Given the description of an element on the screen output the (x, y) to click on. 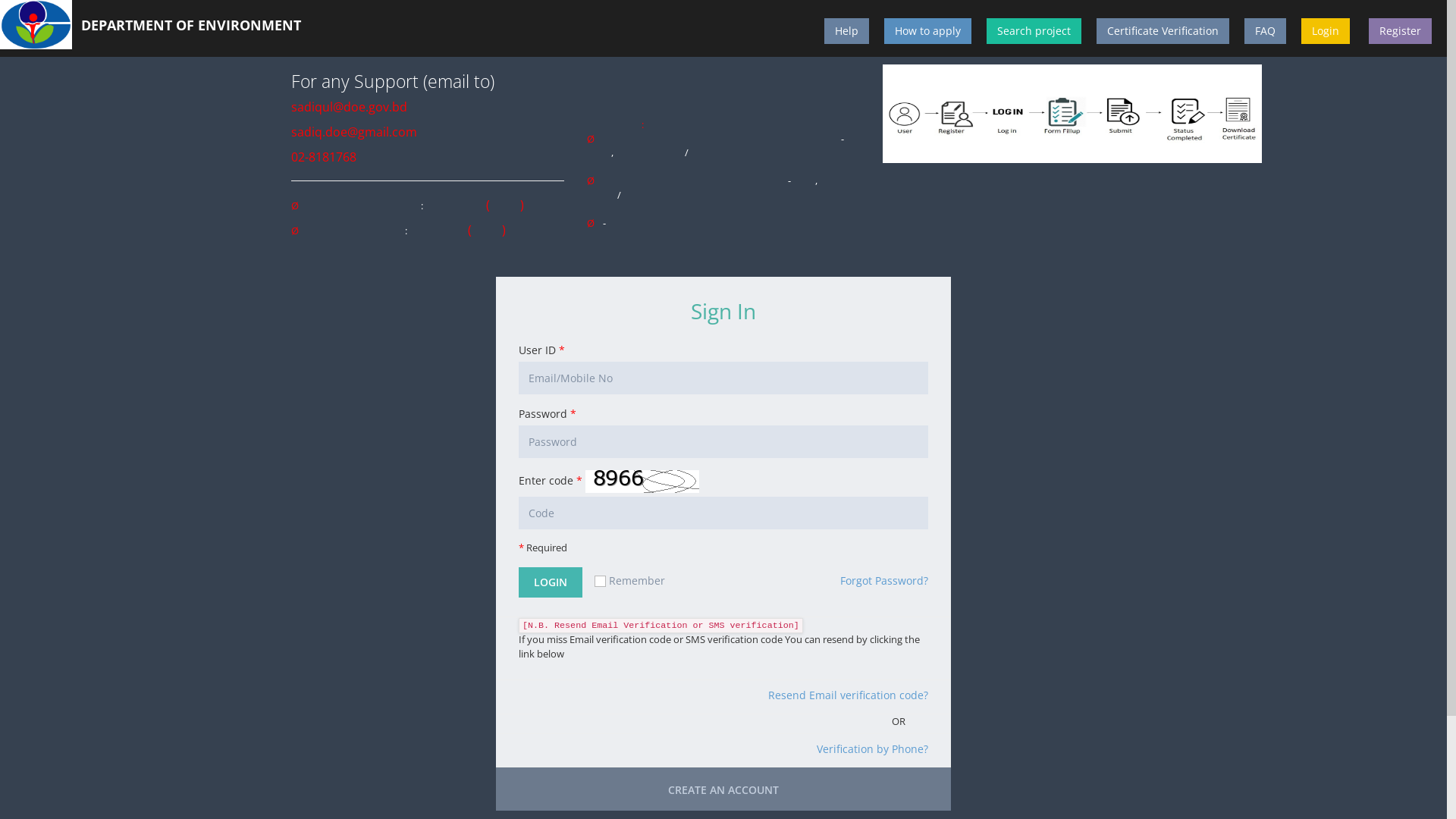
How to apply Element type: text (927, 30)
Certificate Verification Element type: text (1162, 30)
Verification by Phone? Element type: text (872, 748)
Forgot Password? Element type: text (884, 580)
CREATE AN ACCOUNT Element type: text (723, 789)
Register Element type: text (1399, 30)
Resend Email verification code? Element type: text (848, 694)
FAQ Element type: text (1265, 30)
Search project Element type: text (1033, 30)
LOGIN Element type: text (550, 582)
Help Element type: text (846, 30)
Login Element type: text (1325, 30)
